Given the description of an element on the screen output the (x, y) to click on. 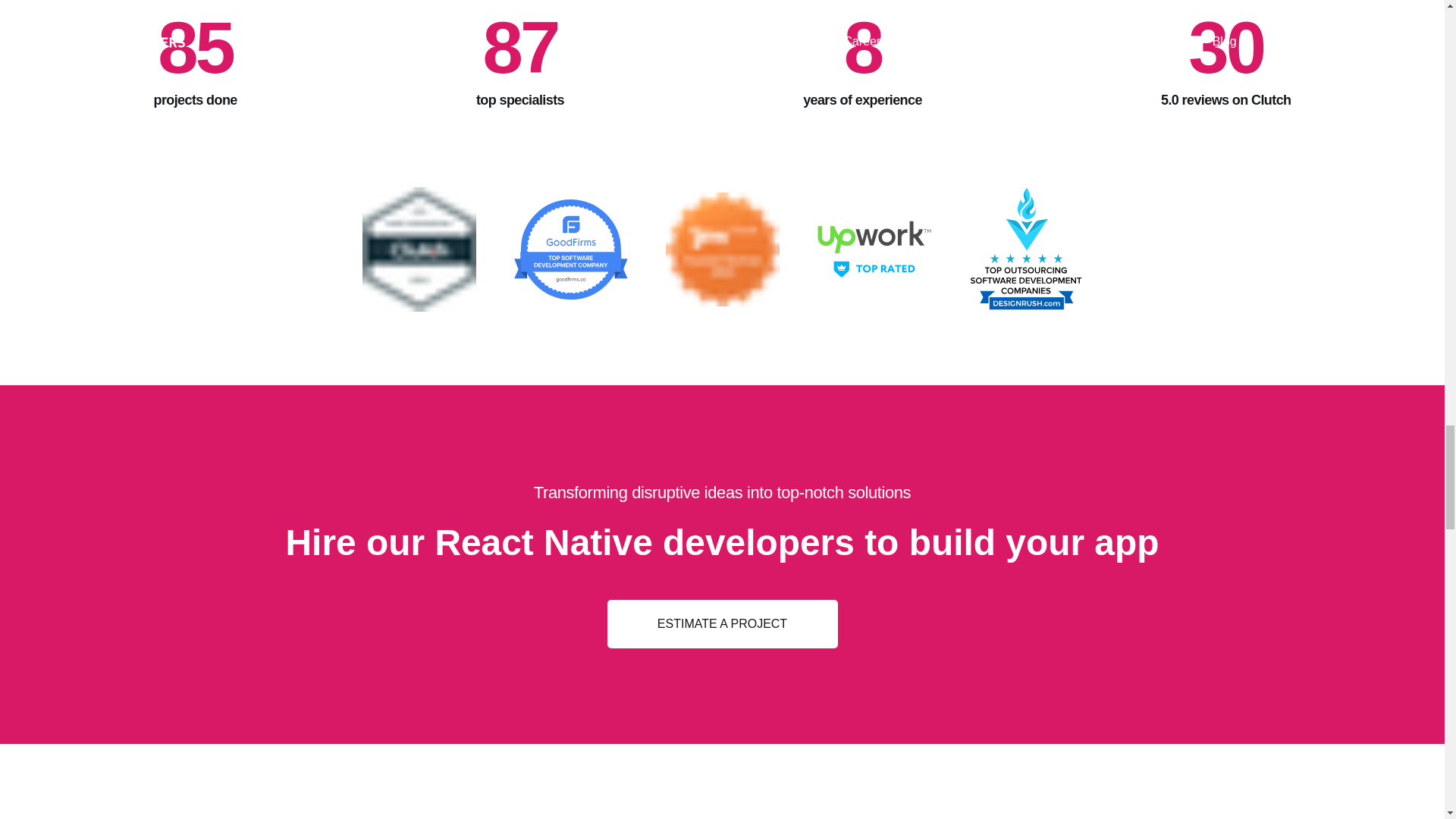
good firms (570, 249)
outsourcing companies (1024, 248)
Upwork (873, 248)
